Given the description of an element on the screen output the (x, y) to click on. 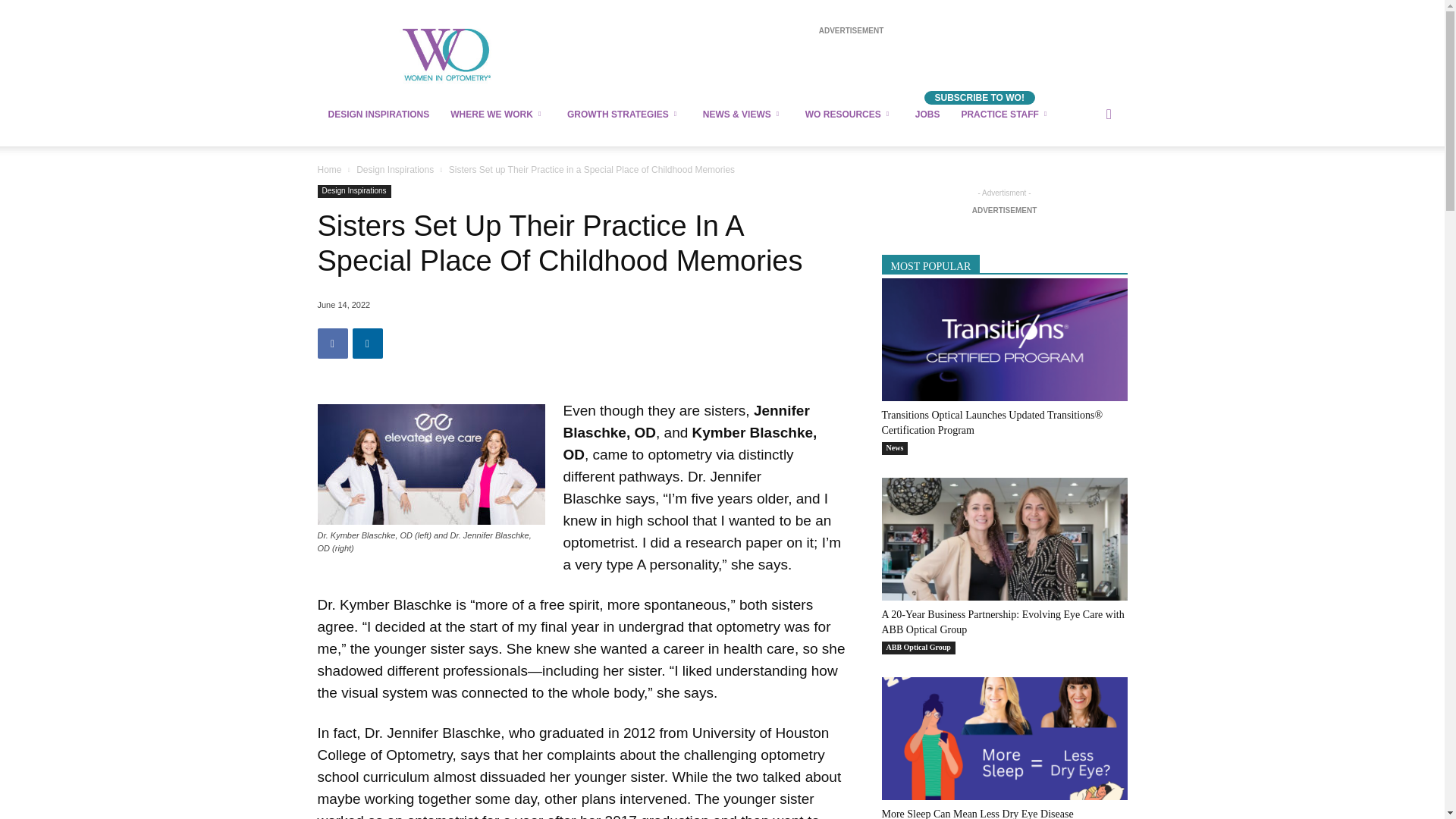
More Sleep Can Mean Less Dry Eye Disease (1003, 738)
View all posts in Design Inspirations (394, 169)
